Given the description of an element on the screen output the (x, y) to click on. 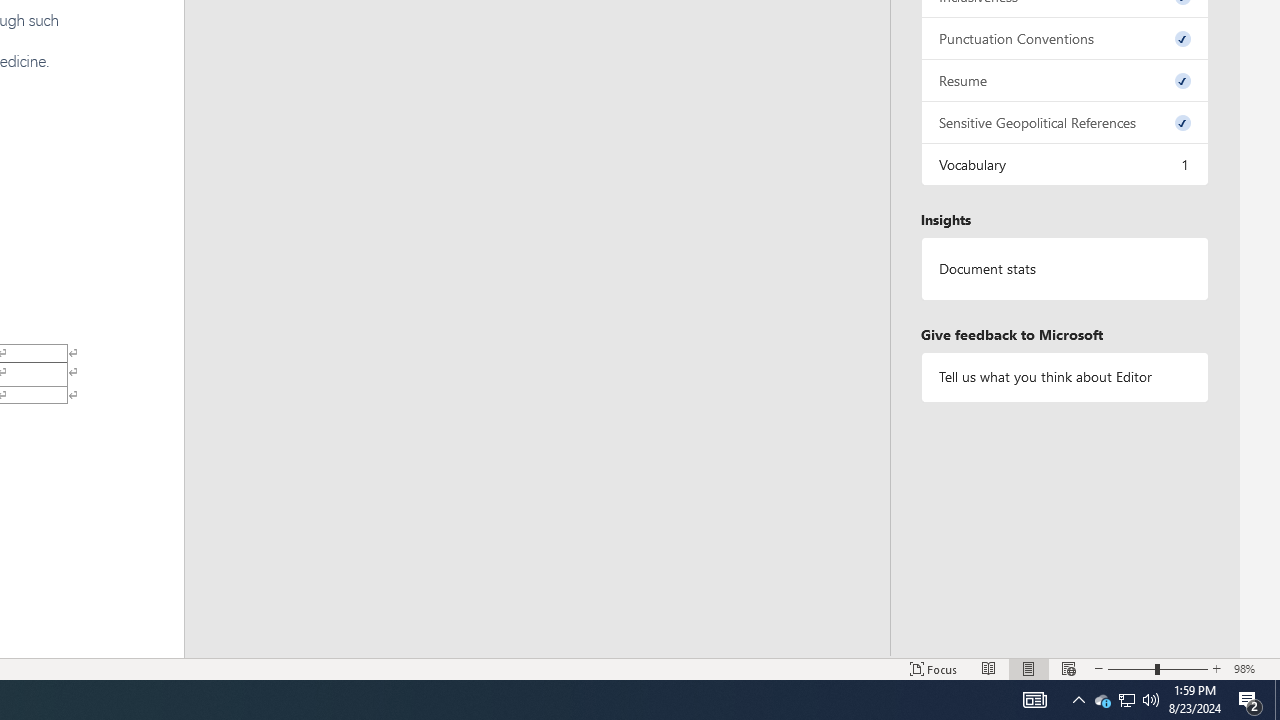
Tell us what you think about Editor (1064, 376)
Vocabulary, 1 issue. Press space or enter to review items. (1064, 164)
